Given the description of an element on the screen output the (x, y) to click on. 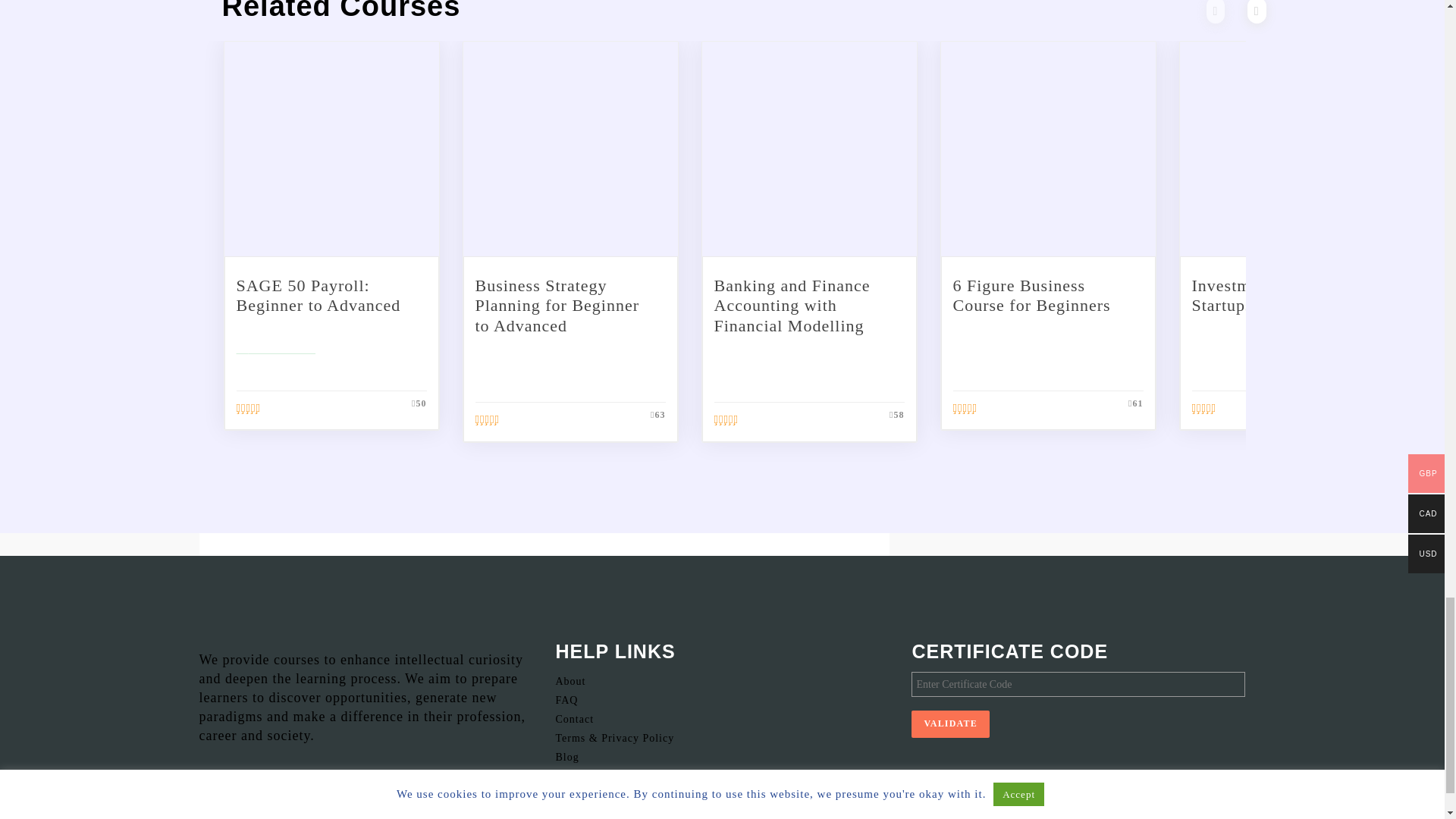
SAGE 50 Payroll: Beginner to Advanced (318, 295)
Business Strategy Planning for Beginner to Advanced (556, 305)
Validate (950, 723)
Investment Banking for Startups (1279, 295)
6 Figure Business Course for Beginners (1030, 295)
Banking and Finance Accounting with Financial Modelling (792, 305)
